Given the description of an element on the screen output the (x, y) to click on. 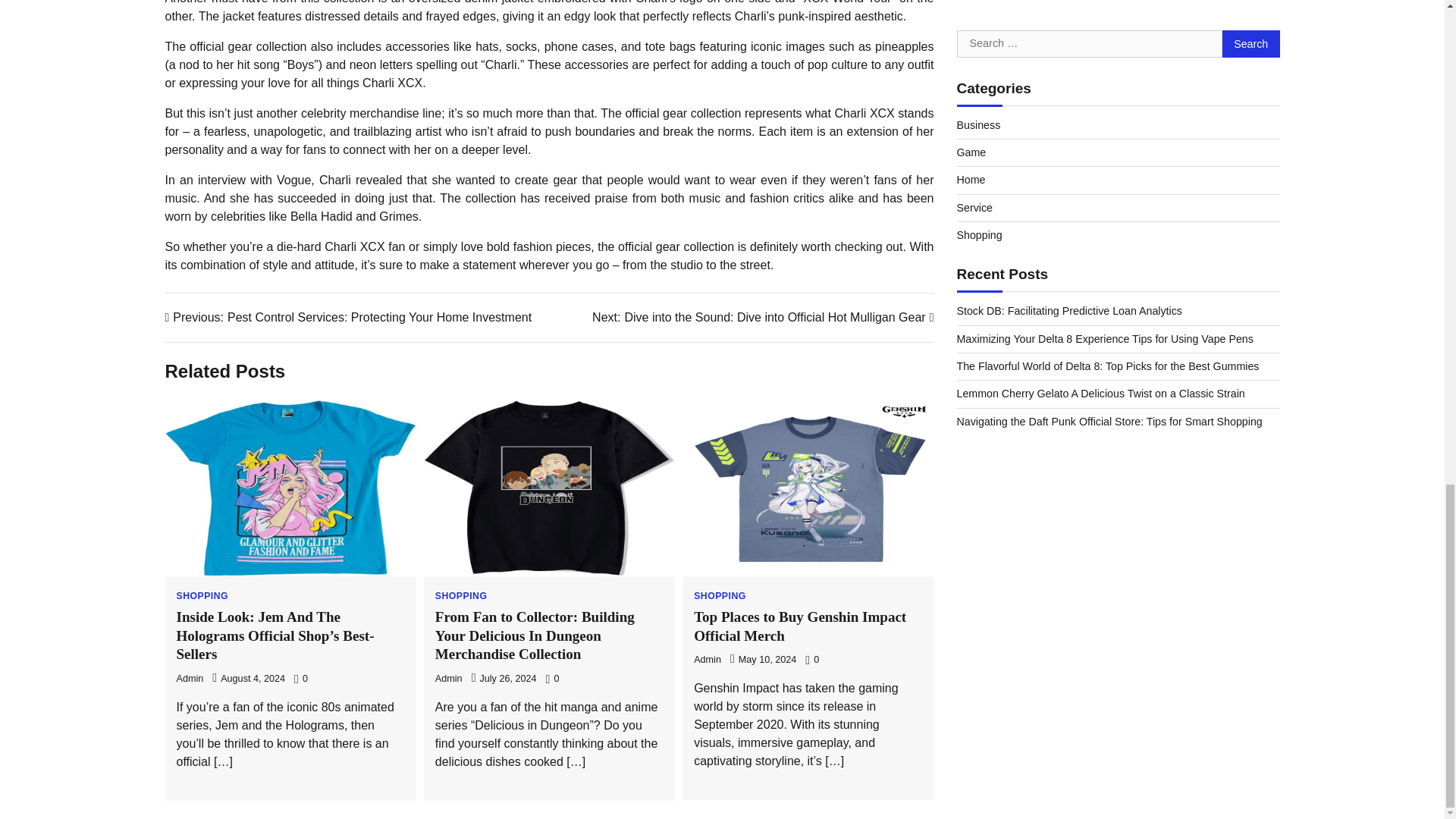
Top Places to Buy Genshin Impact Official Merch (799, 626)
SHOPPING (202, 595)
Admin (707, 659)
SHOPPING (461, 595)
Admin (449, 678)
Admin (189, 678)
SHOPPING (719, 595)
